Given the description of an element on the screen output the (x, y) to click on. 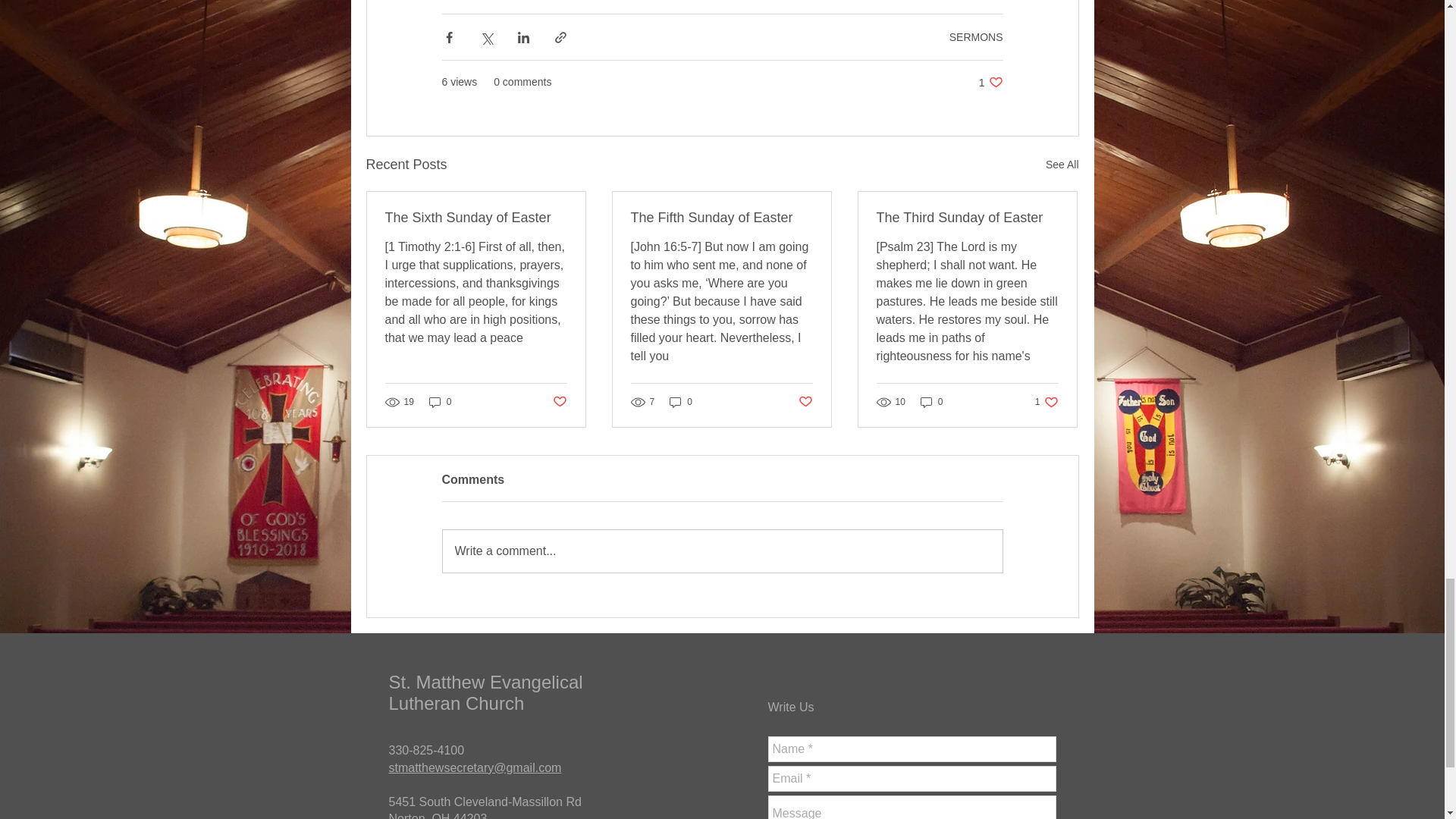
The Third Sunday of Easter (1046, 400)
See All (967, 217)
The Sixth Sunday of Easter (1061, 164)
0 (476, 217)
SERMONS (681, 400)
0 (990, 82)
Write a comment... (976, 36)
The Fifth Sunday of Easter (931, 400)
Post not marked as liked (722, 550)
0 (721, 217)
Post not marked as liked (804, 401)
